Given the description of an element on the screen output the (x, y) to click on. 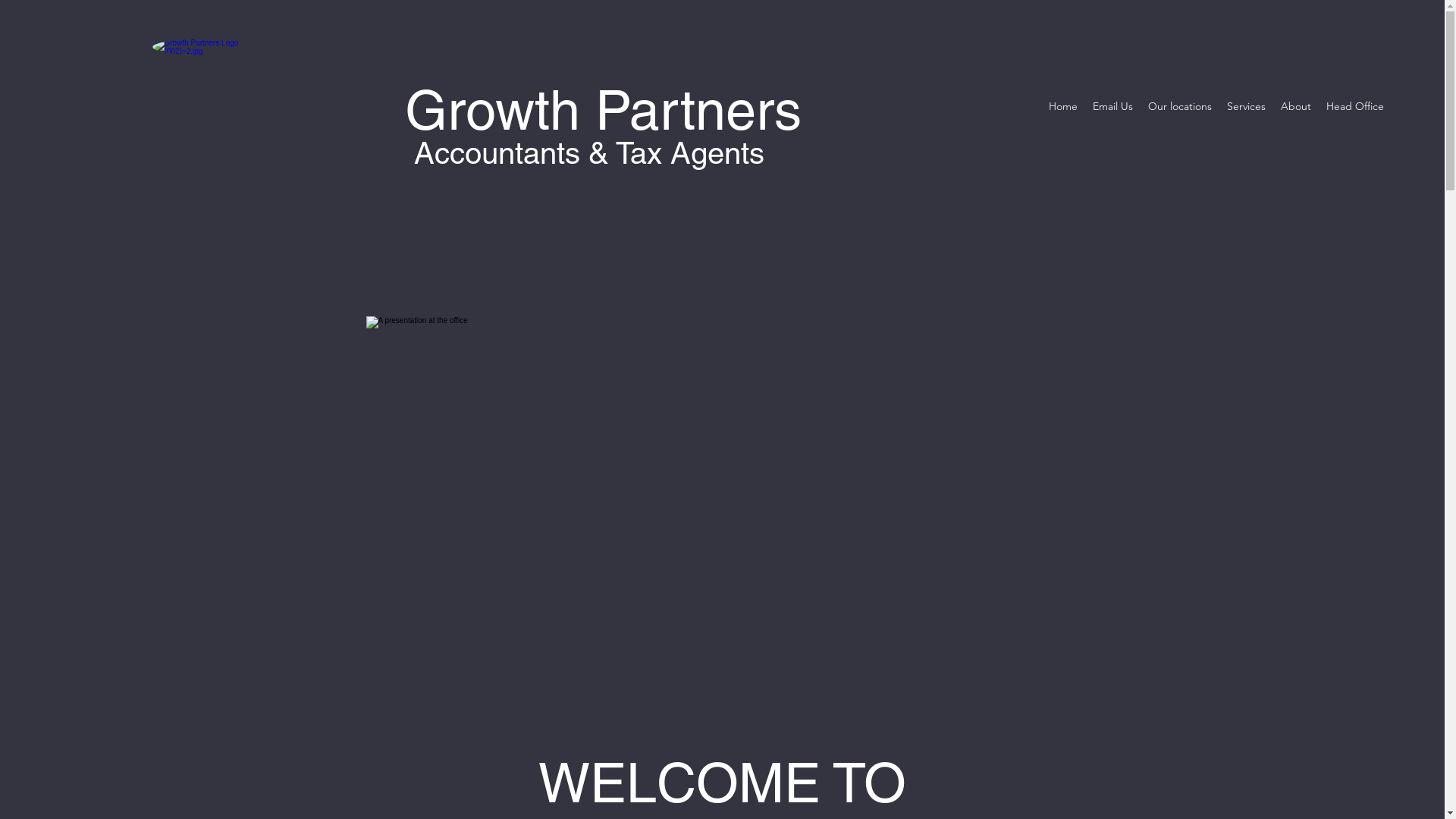
About Element type: text (1295, 105)
Our locations Element type: text (1179, 105)
Home Element type: text (1063, 105)
Head Office Element type: text (1354, 105)
Services Element type: text (1246, 105)
Email Us Element type: text (1112, 105)
